Given the description of an element on the screen output the (x, y) to click on. 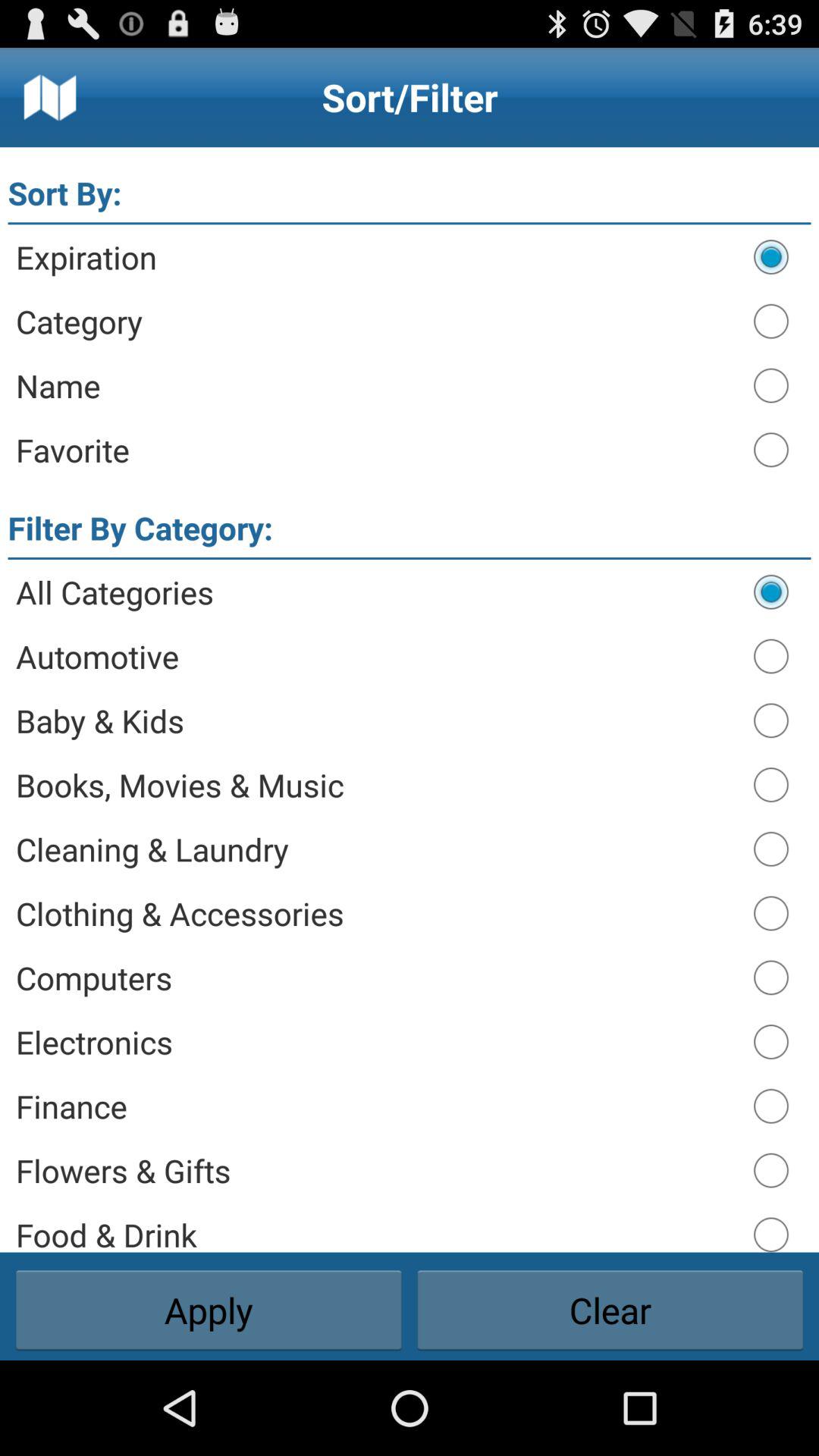
launch app above the category icon (377, 256)
